Given the description of an element on the screen output the (x, y) to click on. 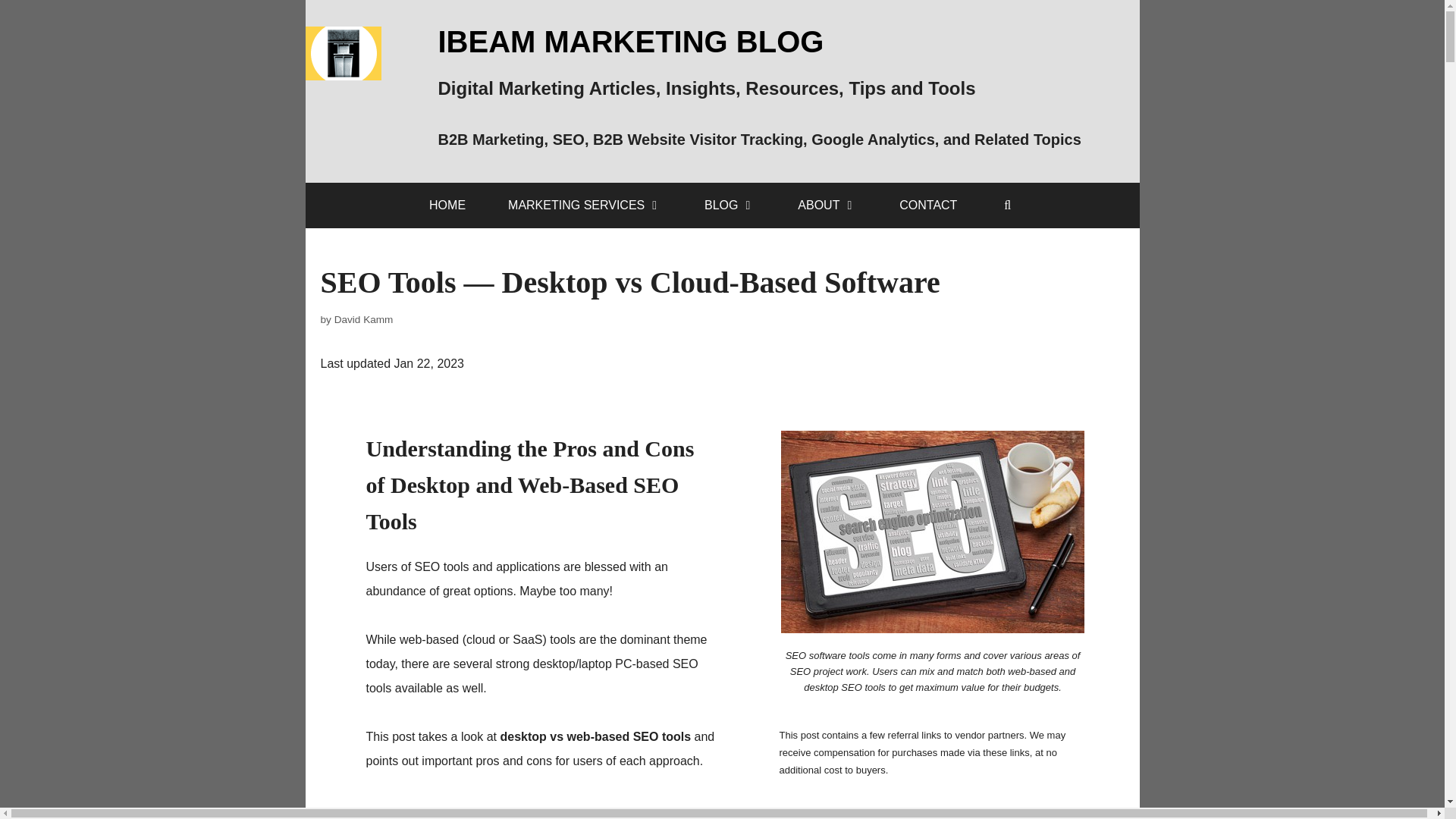
MARKETING SERVICES (584, 205)
David Kamm (363, 319)
CONTACT (927, 205)
View all posts by David Kamm (363, 319)
ABOUT (826, 205)
HOME (446, 205)
BLOG (729, 205)
